Given the description of an element on the screen output the (x, y) to click on. 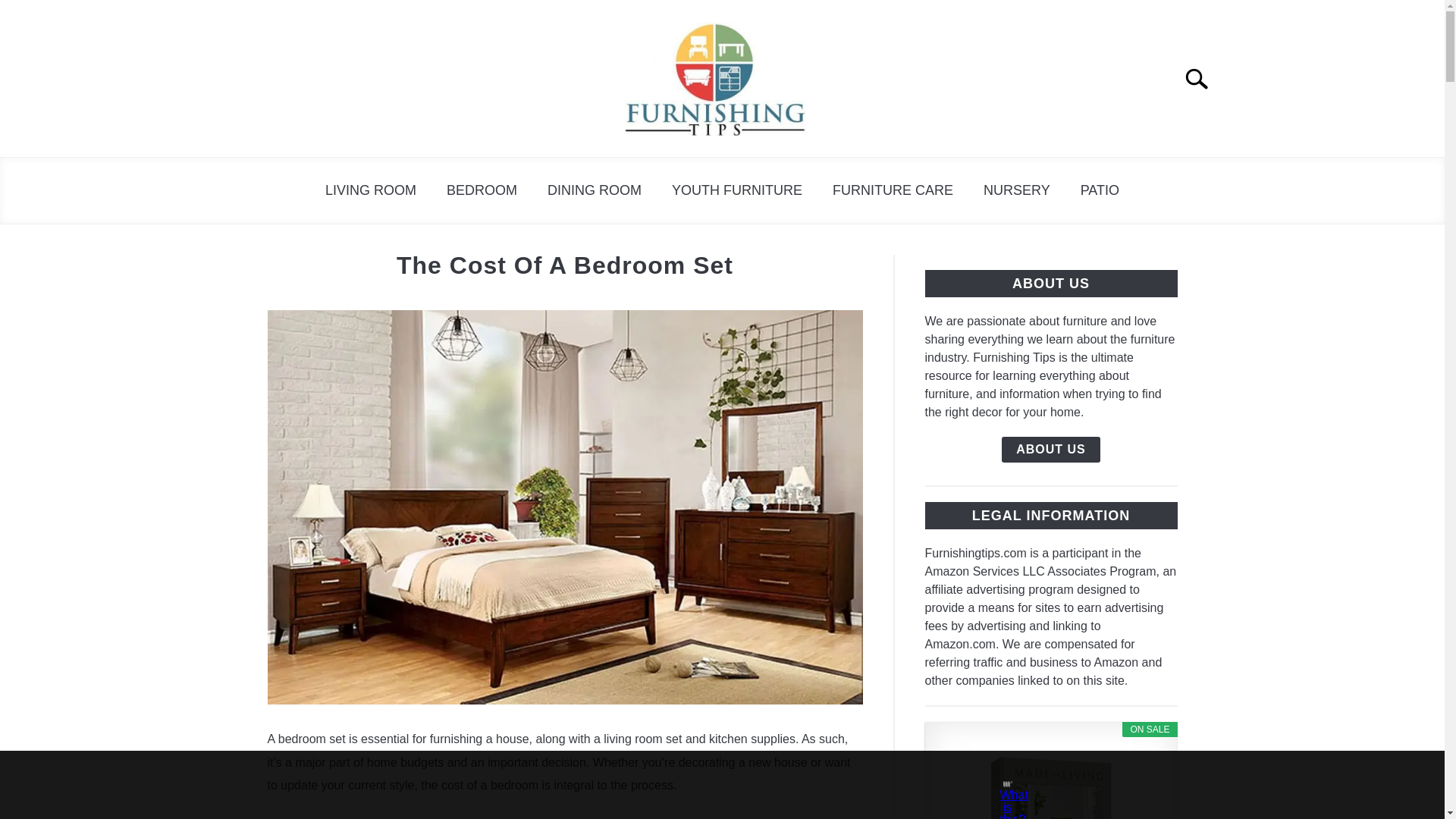
NURSERY (1016, 190)
BEDROOM (481, 190)
LIVING ROOM (370, 190)
Search (1203, 78)
3rd party ad content (708, 785)
DINING ROOM (594, 190)
FURNITURE CARE (892, 190)
ABOUT US (1050, 449)
Made for Living: Collected Interiors for All Sorts of... (1050, 780)
PATIO (1099, 190)
YOUTH FURNITURE (736, 190)
